Given the description of an element on the screen output the (x, y) to click on. 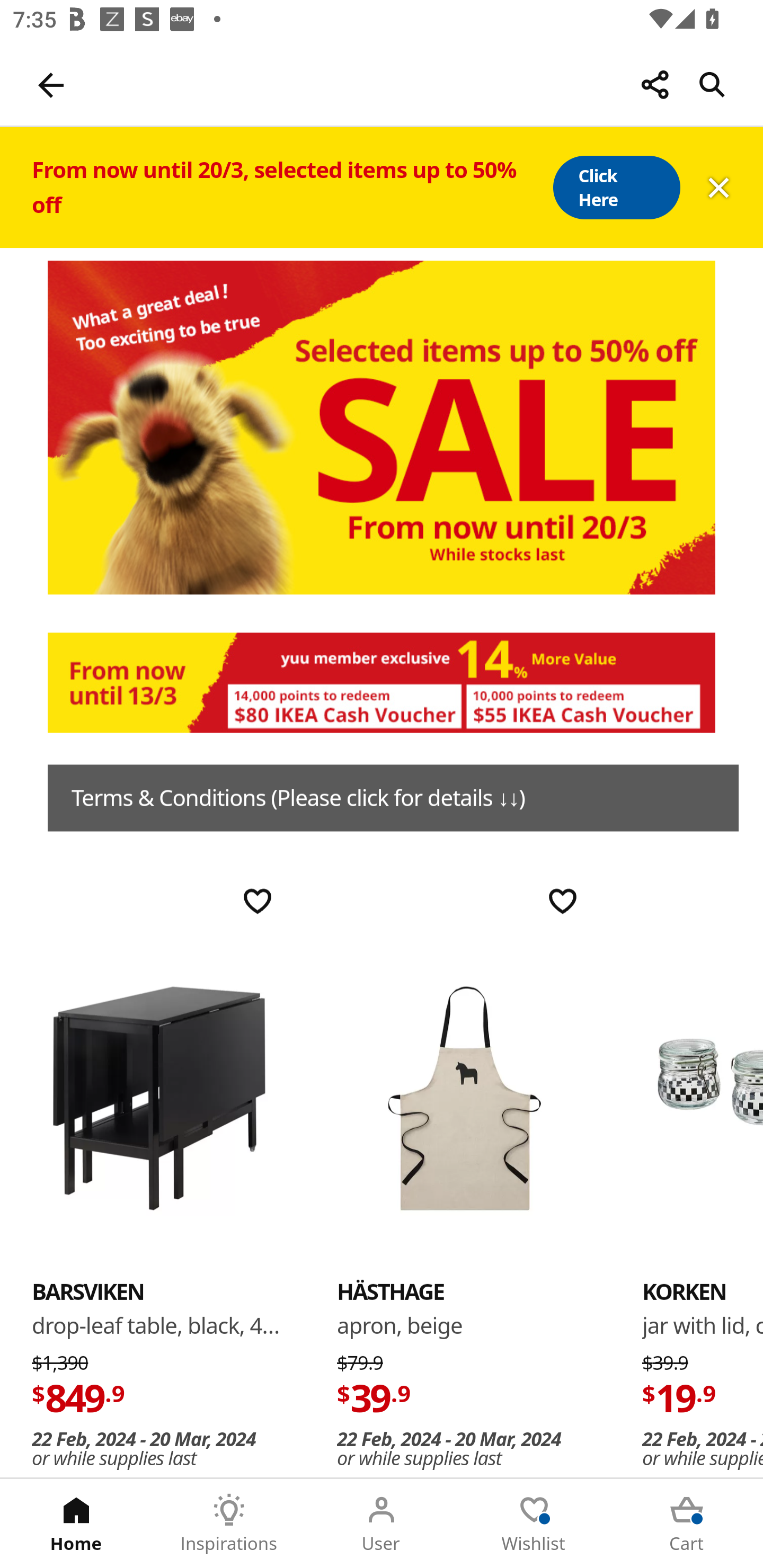
Click Here (615, 187)
Terms & Conditions (Please click for details ↓↓) (393, 798)
BARSVIKEN (159, 1096)
HÄSTHAGE (464, 1096)
KORKEN (702, 1096)
BARSVIKEN (88, 1290)
HÄSTHAGE (390, 1290)
KORKEN (684, 1290)
Home
Tab 1 of 5 (76, 1522)
Inspirations
Tab 2 of 5 (228, 1522)
User
Tab 3 of 5 (381, 1522)
Wishlist
Tab 4 of 5 (533, 1522)
Cart
Tab 5 of 5 (686, 1522)
